Given the description of an element on the screen output the (x, y) to click on. 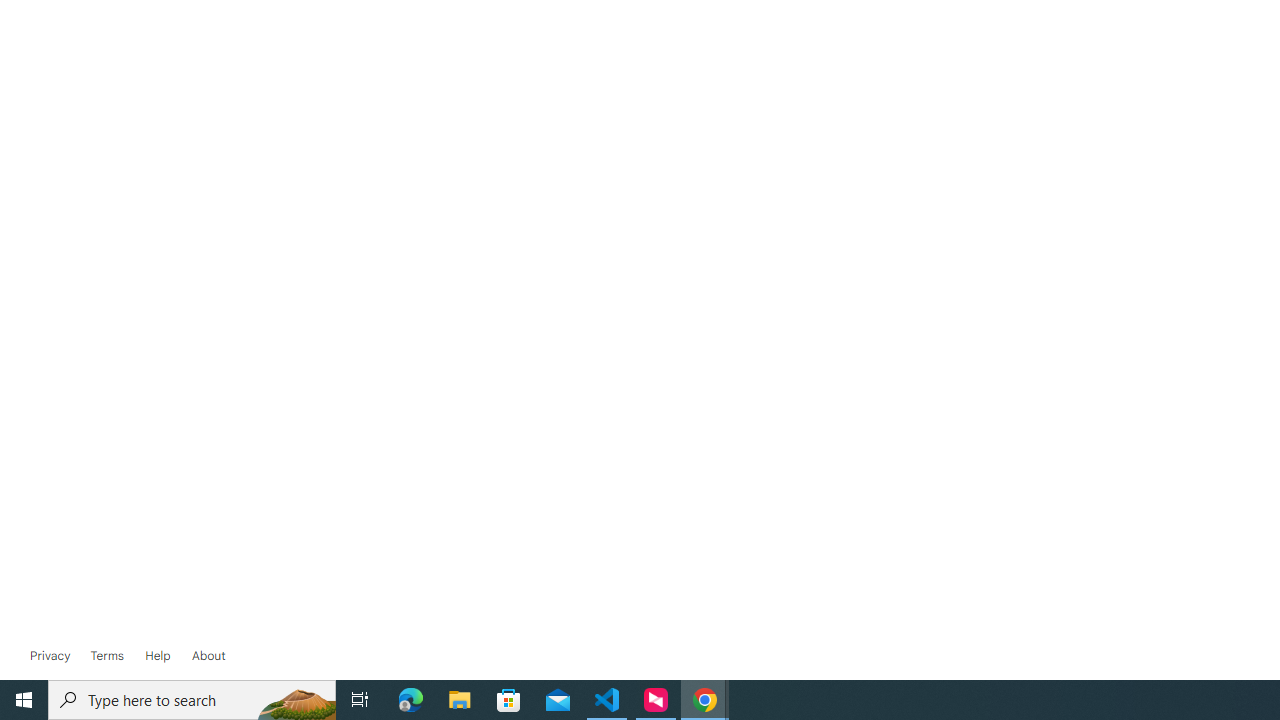
Learn more about Google Account (208, 655)
